Given the description of an element on the screen output the (x, y) to click on. 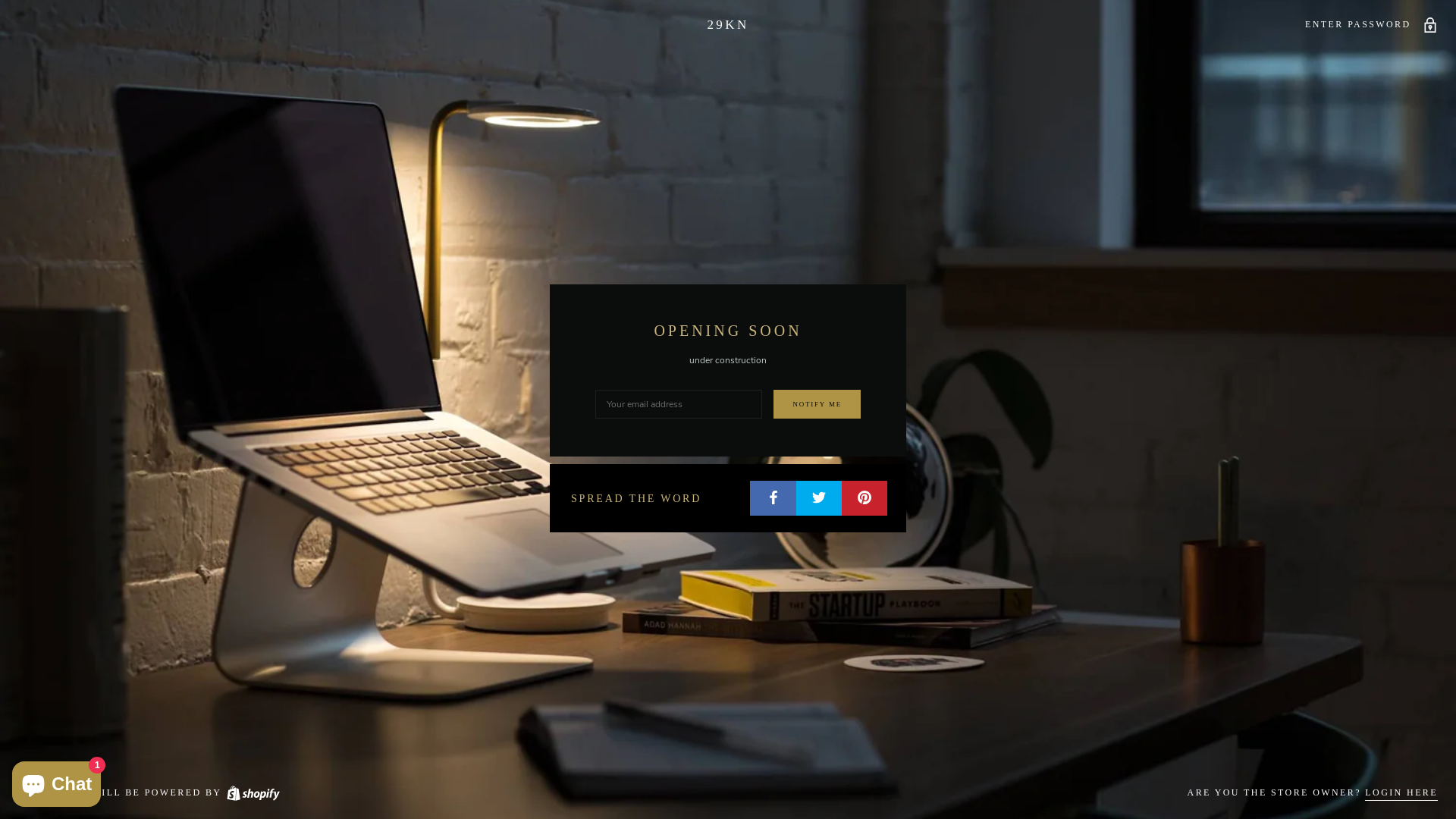
Shopify online store chat Element type: hover (56, 780)
Create your own online store with Shopify Element type: hover (252, 792)
ENTER PASSWORD Element type: text (1371, 23)
NOTIFY ME Element type: text (816, 403)
29KN Element type: text (727, 24)
LOGIN HERE Element type: text (1401, 792)
